Given the description of an element on the screen output the (x, y) to click on. 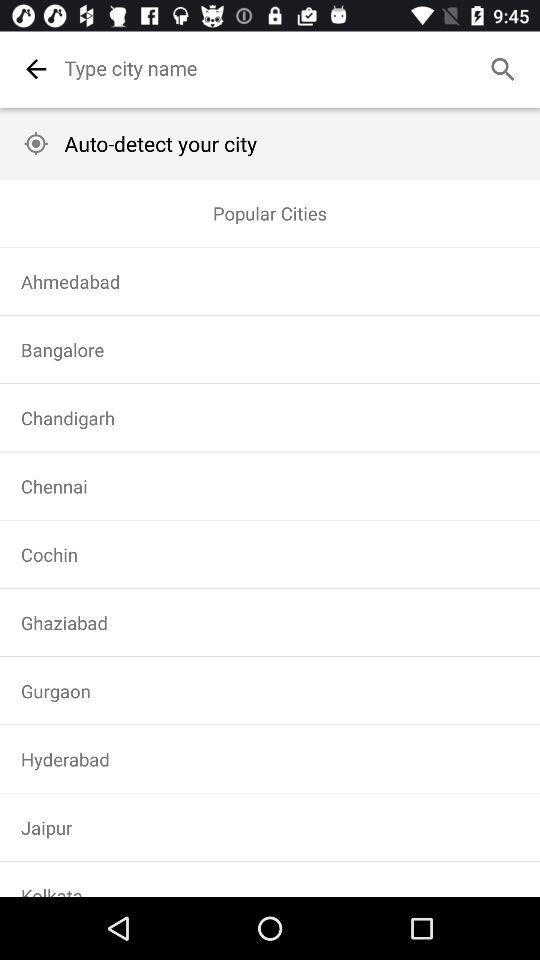
return to the previous screen (36, 69)
